Given the description of an element on the screen output the (x, y) to click on. 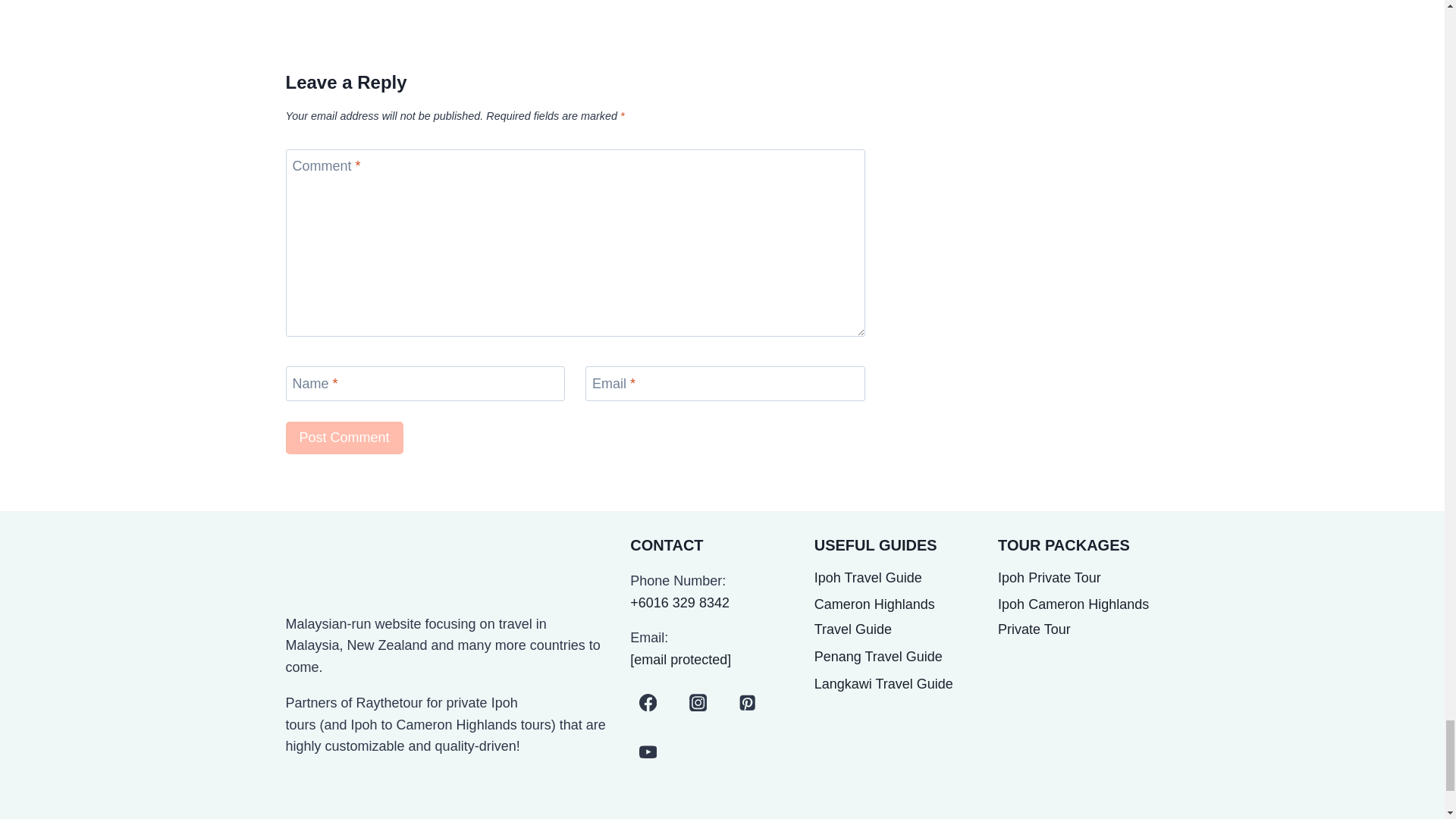
Post Comment (344, 437)
